Given the description of an element on the screen output the (x, y) to click on. 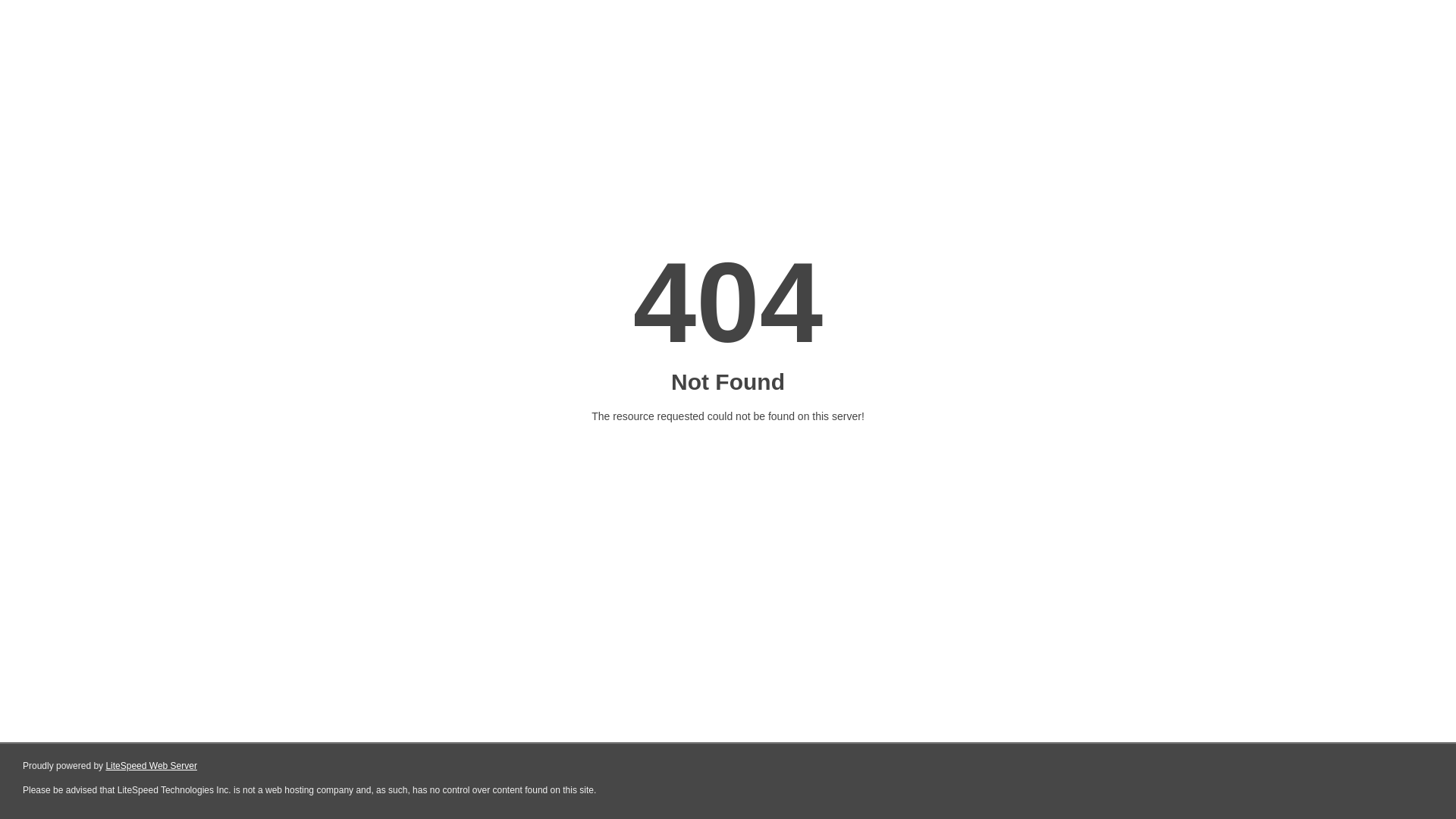
LiteSpeed Web Server Element type: text (151, 765)
